Given the description of an element on the screen output the (x, y) to click on. 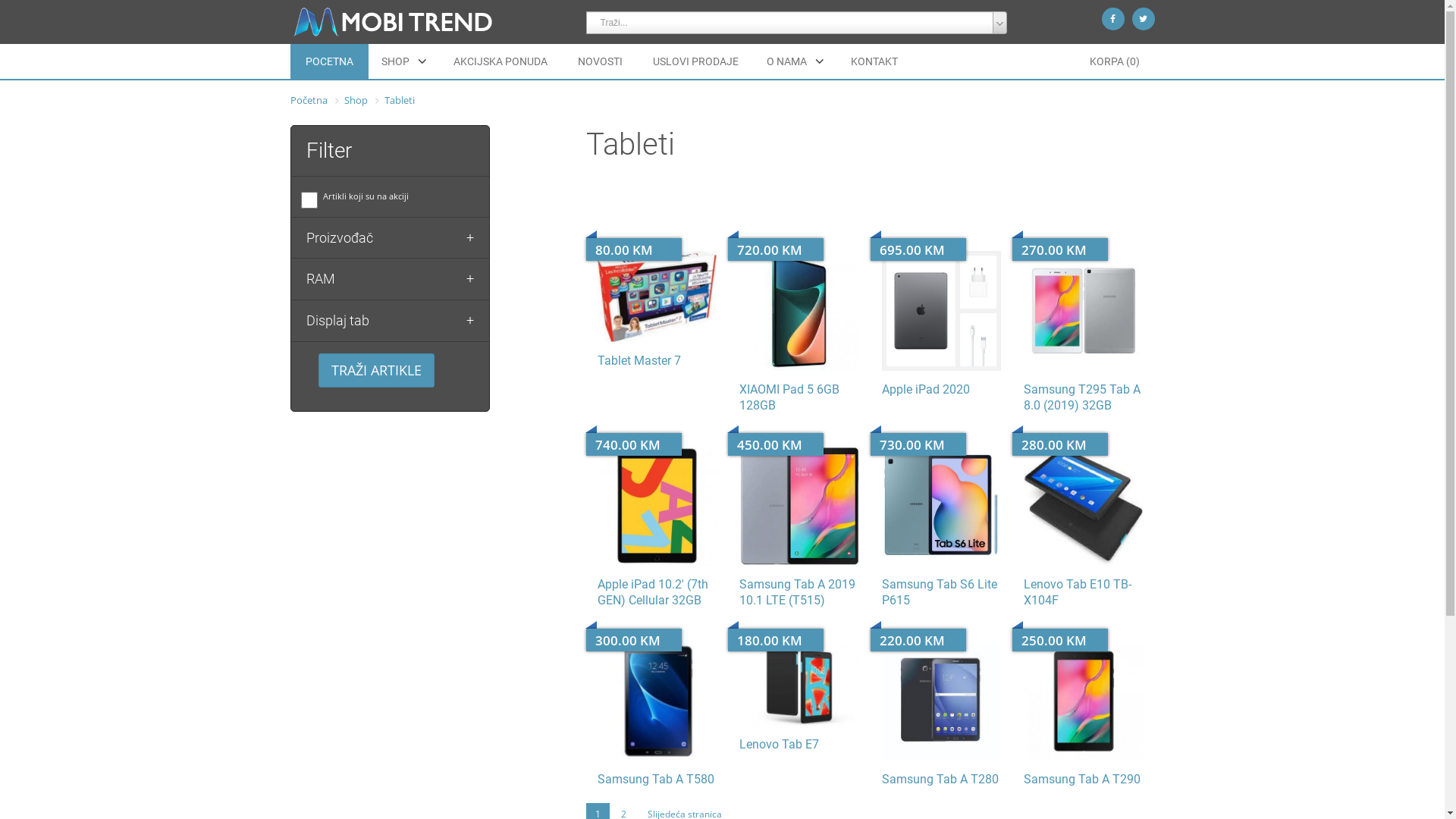
Samsung Tab A T280 Element type: hover (941, 701)
Apple iPad 10.2' (7th GEN) Cellular 32GB Element type: hover (657, 505)
Shop Element type: text (355, 99)
Apple iPad 2020 Element type: hover (941, 310)
USLOVI PRODAJE Element type: text (695, 60)
Samsung Tab S6 Lite P615 Element type: hover (941, 505)
POCETNA Element type: text (328, 60)
XIAOMI Pad 5 6GB 128GB Element type: text (789, 397)
Lenovo Tab E7 Element type: text (779, 744)
Samsung Tab A T290 Element type: text (1081, 778)
Tablet Master 7 Element type: hover (657, 296)
SHOP Element type: text (403, 60)
Displaj tab
+ Element type: text (389, 320)
Samsung Tab A 2019 10.1 LTE (T515) Element type: hover (799, 505)
Apple iPad 10.2' (7th GEN) Cellular 32GB Element type: text (652, 592)
Samsung T295 Tab A 8.0 (2019) 32GB Element type: hover (1083, 310)
KONTAKT Element type: text (874, 60)
RAM
+ Element type: text (389, 278)
KORPA (0) Element type: text (1113, 60)
XIAOMI Pad 5 6GB 128GB Element type: hover (799, 310)
Lenovo Tab E10 TB-X104F Element type: hover (1083, 505)
O NAMA Element type: text (794, 60)
Apple iPad 2020 Element type: text (925, 389)
Samsung Tab A T280 Element type: text (939, 778)
Lenovo Tab E10 TB-X104F Element type: text (1077, 592)
NOVOSTI Element type: text (599, 60)
Samsung Tab A T580 Element type: hover (657, 701)
AKCIJSKA PONUDA Element type: text (500, 60)
Samsung Tab S6 Lite P615 Element type: text (938, 592)
Tablet Master 7 Element type: text (638, 360)
Lenovo Tab E7 Element type: hover (799, 683)
Samsung T295 Tab A 8.0 (2019) 32GB Element type: text (1081, 397)
Samsung Tab A T290 Element type: hover (1083, 701)
Samsung Tab A 2019 10.1 LTE (T515) Element type: text (797, 592)
Samsung Tab A T580 Element type: text (655, 778)
Tableti Element type: text (398, 99)
